Given the description of an element on the screen output the (x, y) to click on. 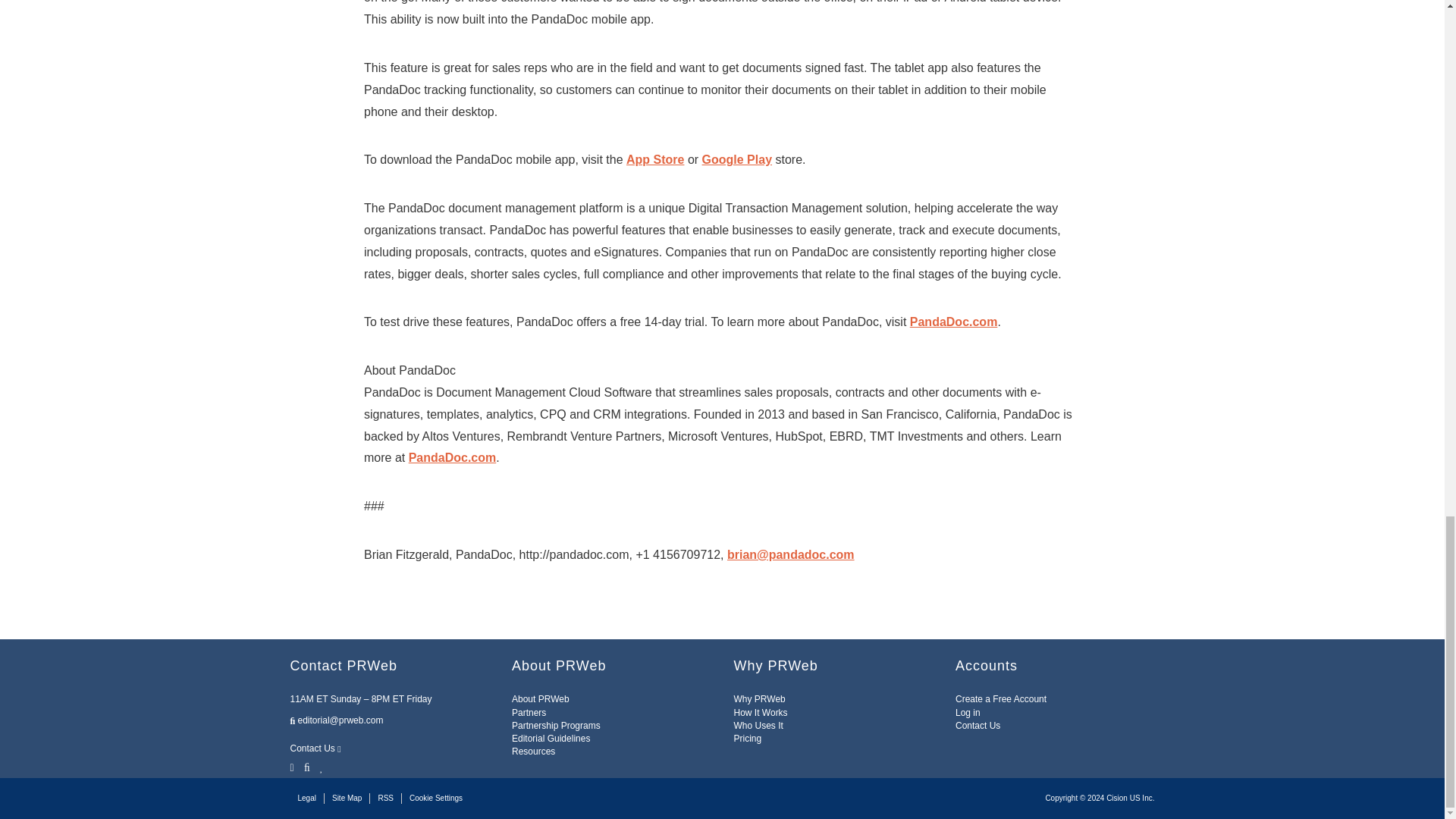
App Store (655, 159)
Google Play (736, 159)
PandaDoc.com (953, 321)
PandaDoc.com (452, 457)
Facebook (306, 766)
